Given the description of an element on the screen output the (x, y) to click on. 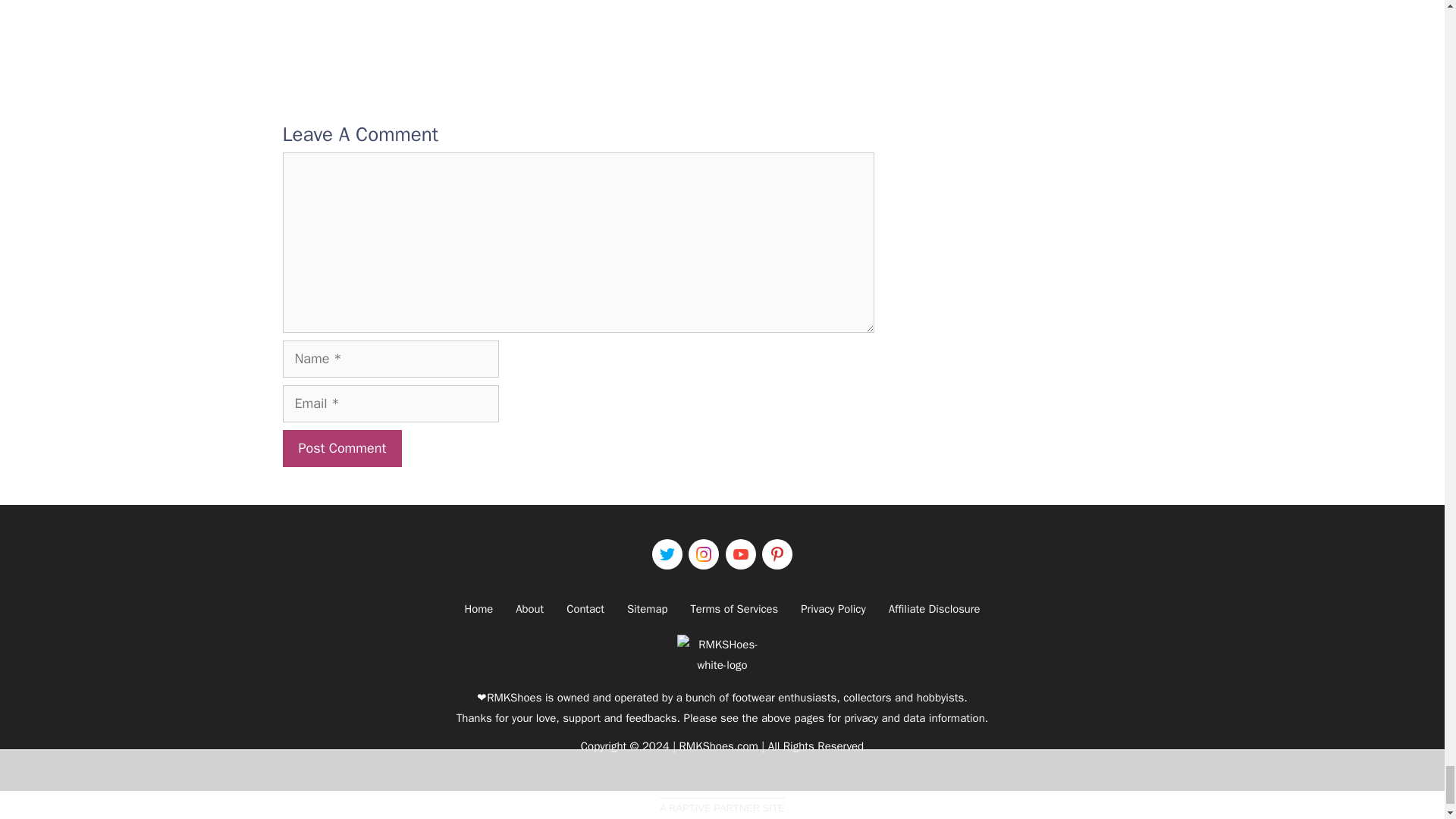
Twitter (667, 553)
Instagram (703, 553)
Post Comment (341, 447)
Youtube (740, 553)
